Given the description of an element on the screen output the (x, y) to click on. 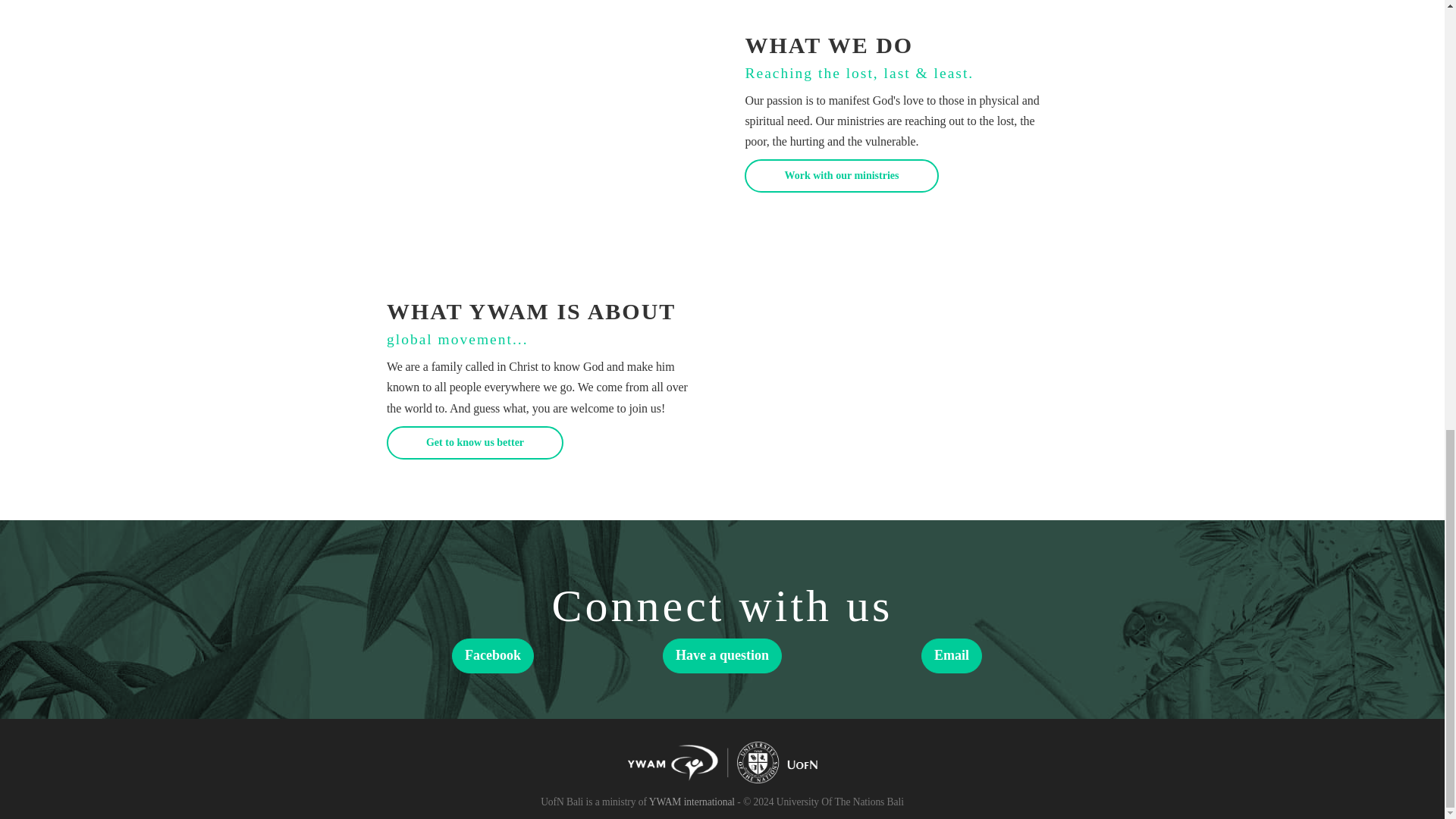
Facebook (492, 655)
Get to know us better (475, 442)
YWAM international (692, 801)
Have a question (721, 655)
Work with our ministries (840, 175)
Email (951, 655)
